Given the description of an element on the screen output the (x, y) to click on. 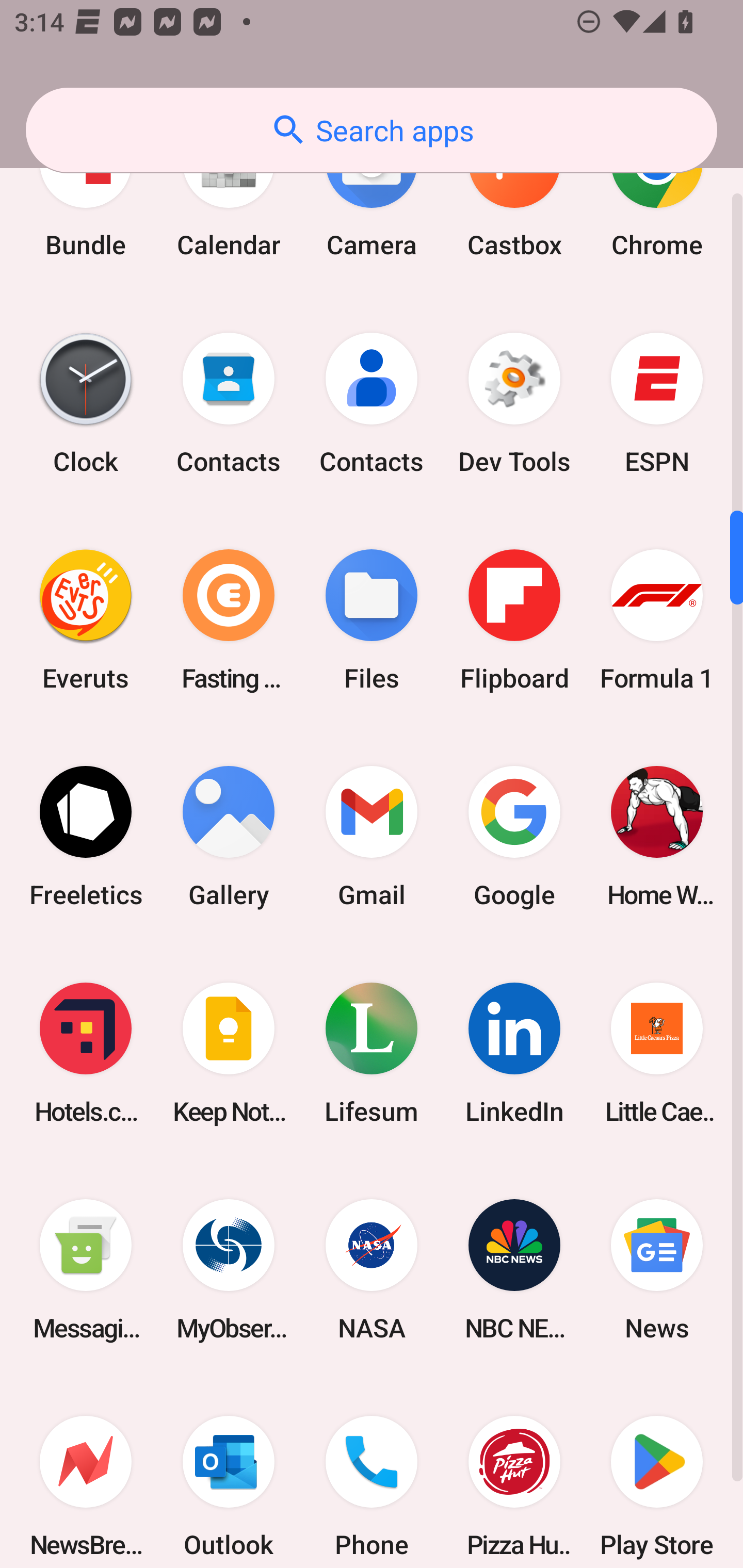
  Search apps (371, 130)
Clock (85, 402)
Contacts (228, 402)
Contacts (371, 402)
Dev Tools (514, 402)
ESPN (656, 402)
Everuts (85, 619)
Fasting Coach (228, 619)
Files (371, 619)
Flipboard (514, 619)
Formula 1 (656, 619)
Freeletics (85, 836)
Gallery (228, 836)
Gmail (371, 836)
Google (514, 836)
Home Workout (656, 836)
Hotels.com (85, 1053)
Keep Notes (228, 1053)
Lifesum (371, 1053)
LinkedIn (514, 1053)
Little Caesars Pizza (656, 1053)
Messaging (85, 1269)
MyObservatory (228, 1269)
NASA (371, 1269)
NBC NEWS (514, 1269)
News (656, 1269)
NewsBreak (85, 1473)
Outlook (228, 1473)
Phone (371, 1473)
Pizza Hut HK & Macau (514, 1473)
Play Store (656, 1473)
